Given the description of an element on the screen output the (x, y) to click on. 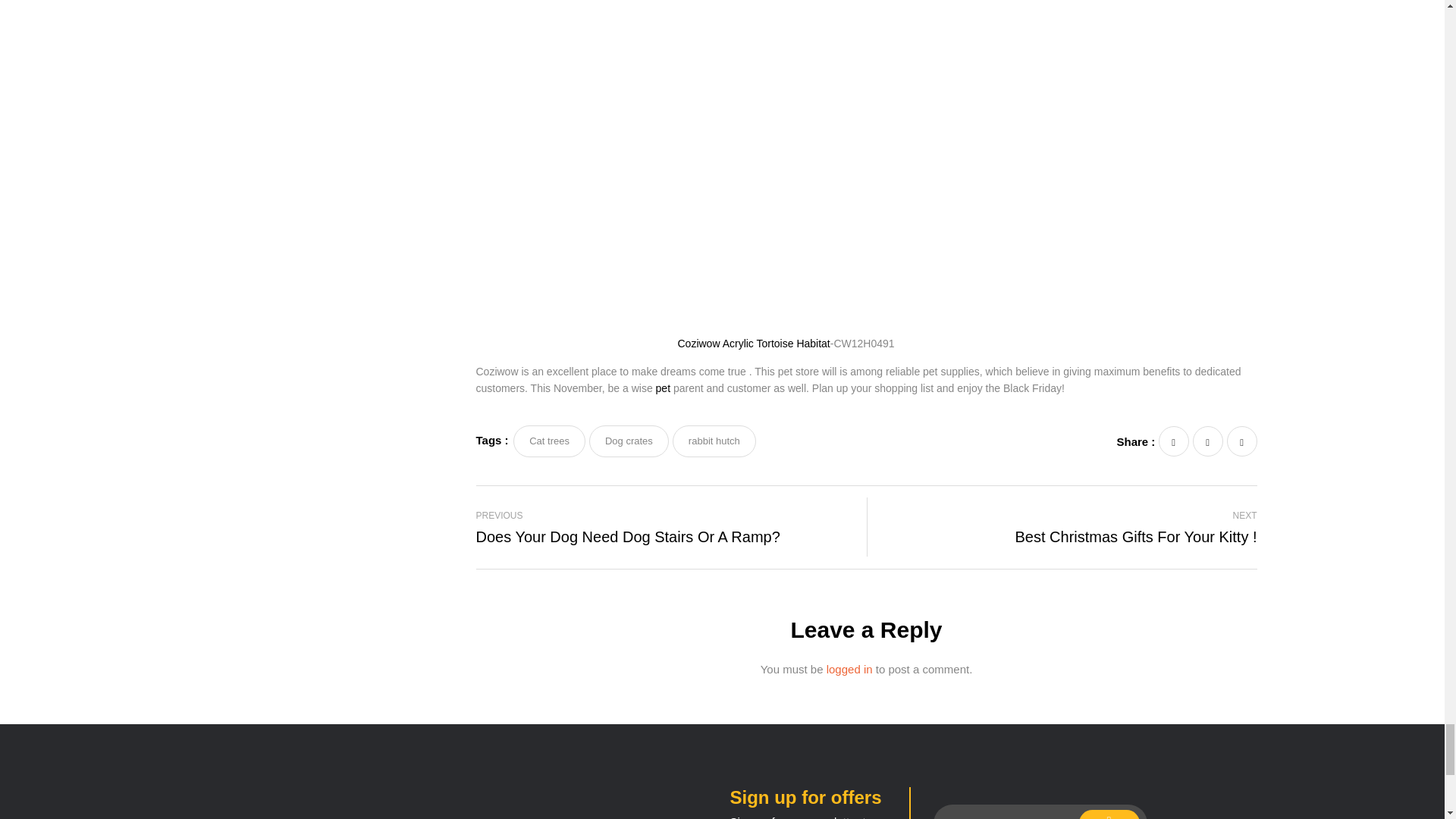
Facebook (1173, 440)
Subscribe (1108, 814)
Twitter (1207, 440)
Pinterest (1242, 440)
